Given the description of an element on the screen output the (x, y) to click on. 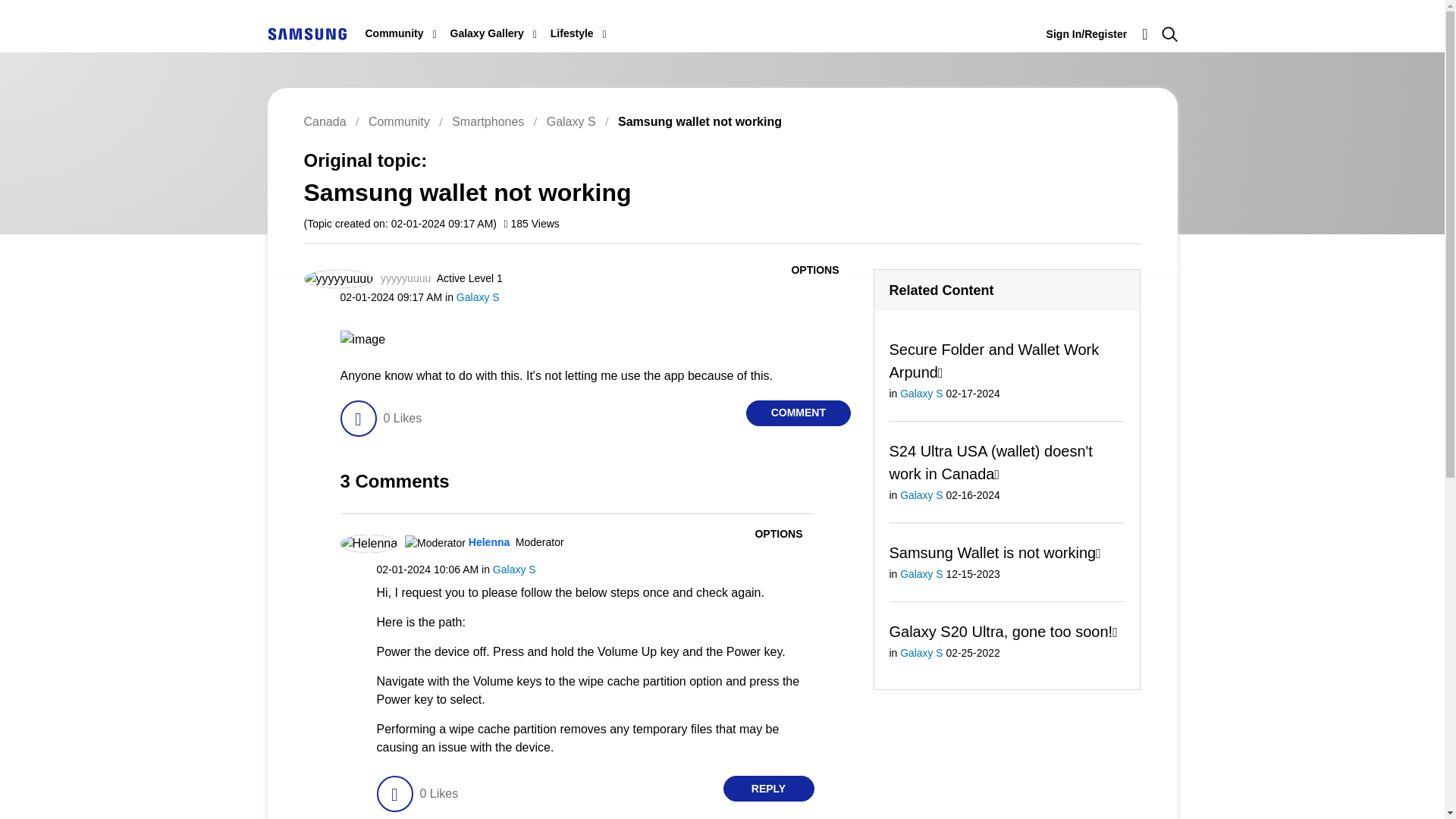
Galaxy Gallery (486, 33)
Canada (306, 33)
Canada (306, 33)
Community (394, 33)
Lifestyle (572, 33)
Lifestyle (572, 33)
Galaxy Gallery (486, 33)
Community (394, 33)
